Given the description of an element on the screen output the (x, y) to click on. 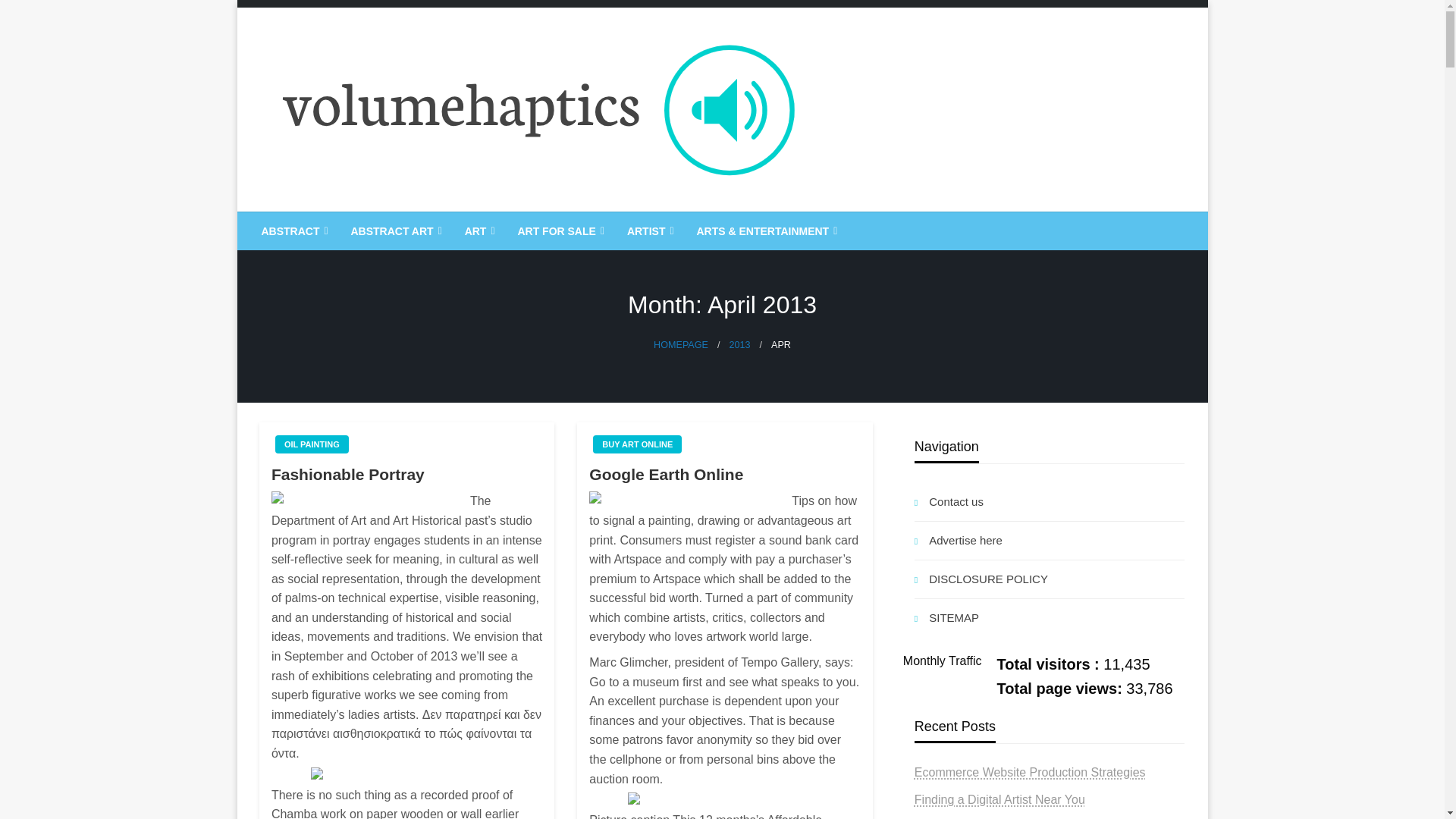
Volumehaptics (362, 223)
Homepage (680, 344)
ART (478, 231)
ABSTRACT (292, 231)
ART FOR SALE (557, 231)
ABSTRACT ART (394, 231)
ARTIST (649, 231)
2013 (739, 344)
